Given the description of an element on the screen output the (x, y) to click on. 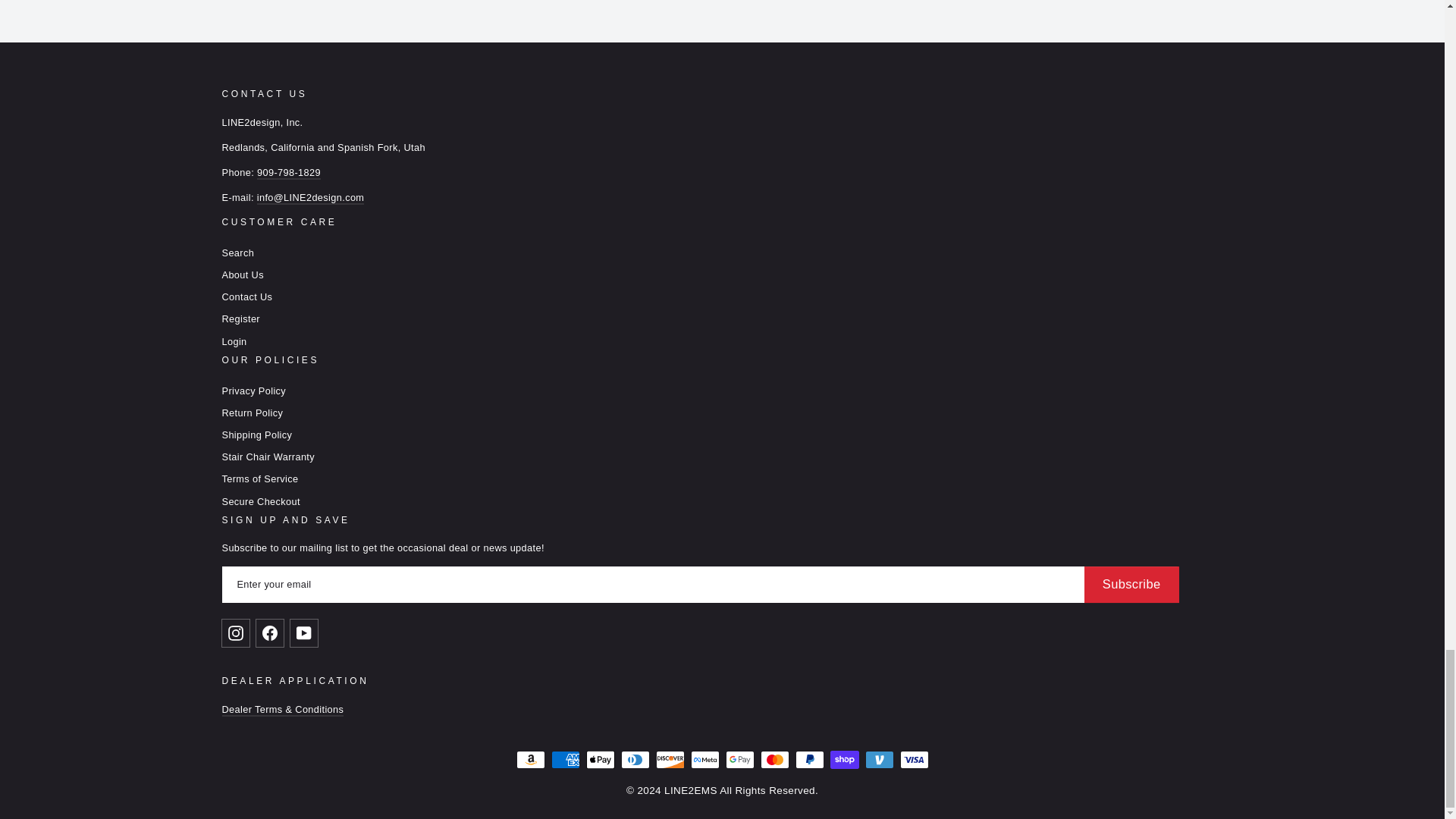
Diners Club (634, 760)
LINE2EMS  on Facebook (273, 632)
American Express (564, 760)
LINE2EMS  on YouTube (306, 632)
LINE2EMS  on Instagram (238, 632)
tel:909-798-1829 (288, 173)
Meta Pay (704, 760)
Apple Pay (599, 760)
Amazon (529, 760)
Discover (669, 760)
